Given the description of an element on the screen output the (x, y) to click on. 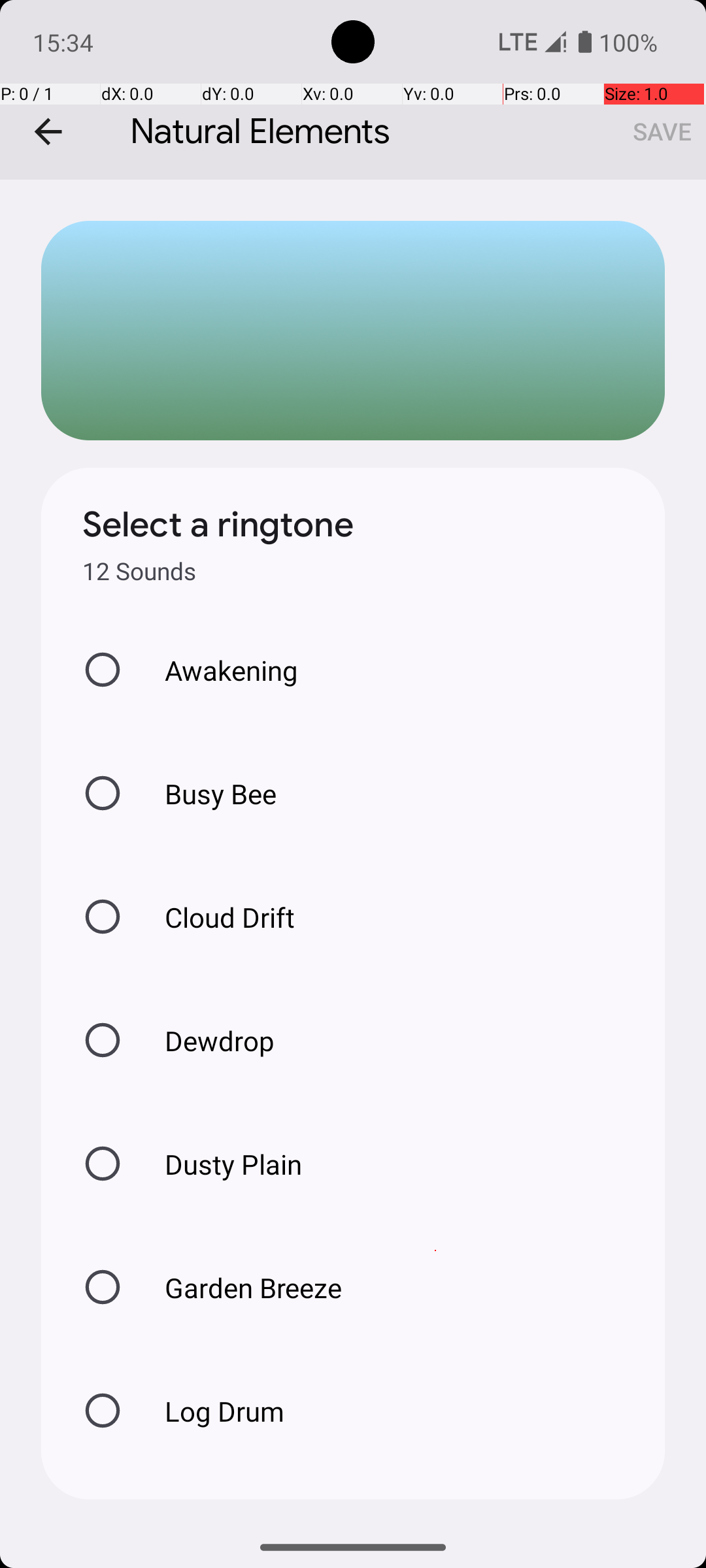
Natural Elements Element type: android.widget.FrameLayout (353, 89)
Select a ringtone Element type: android.widget.TextView (217, 524)
12 Sounds Element type: android.widget.TextView (139, 570)
Awakening Element type: android.widget.TextView (217, 669)
Busy Bee Element type: android.widget.TextView (206, 793)
Cloud Drift Element type: android.widget.TextView (215, 916)
Dewdrop Element type: android.widget.TextView (205, 1040)
Dusty Plain Element type: android.widget.TextView (219, 1163)
Garden Breeze Element type: android.widget.TextView (239, 1287)
Log Drum Element type: android.widget.TextView (210, 1410)
